Given the description of an element on the screen output the (x, y) to click on. 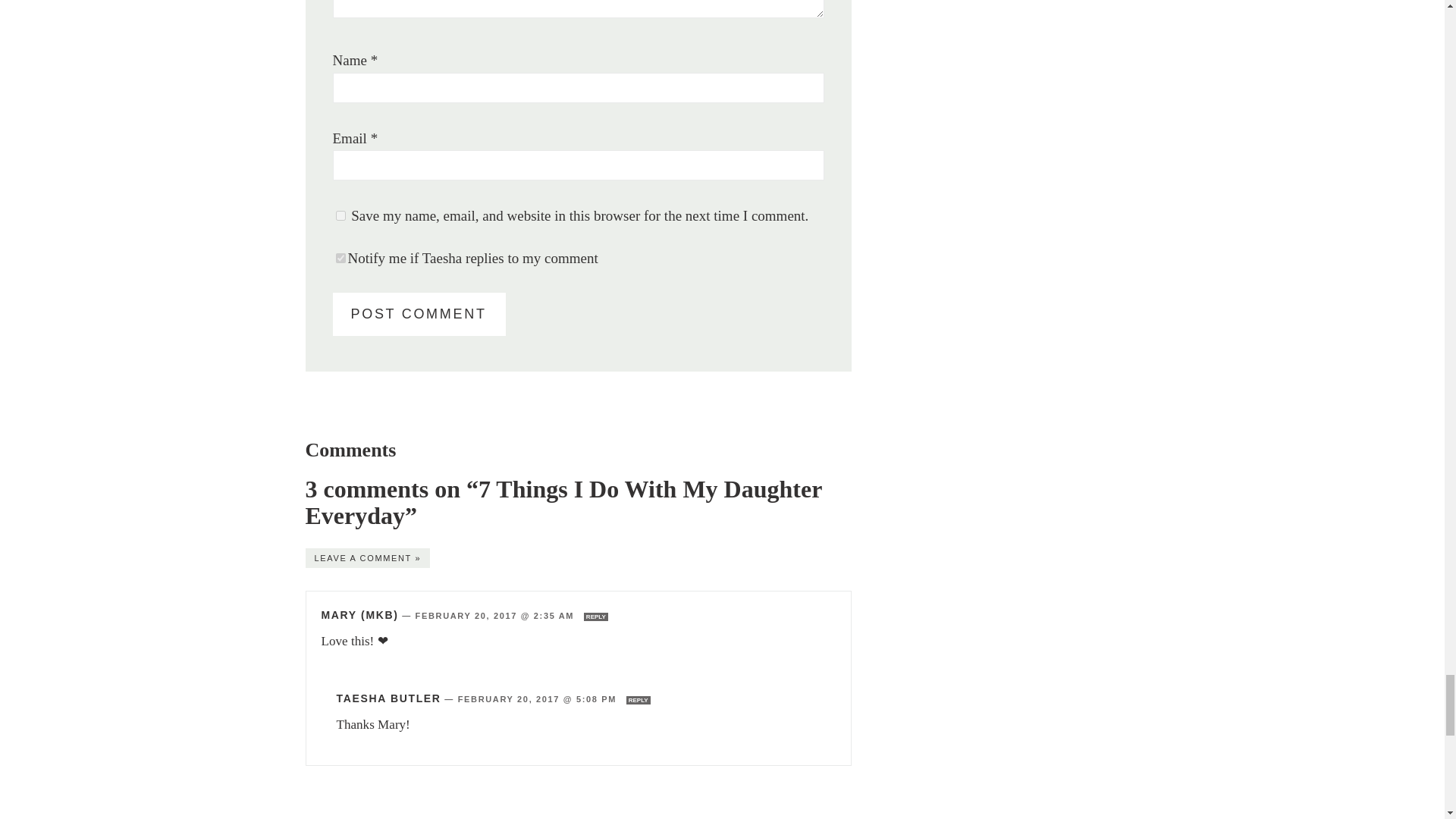
on (339, 257)
yes (339, 215)
Post Comment (418, 313)
